Given the description of an element on the screen output the (x, y) to click on. 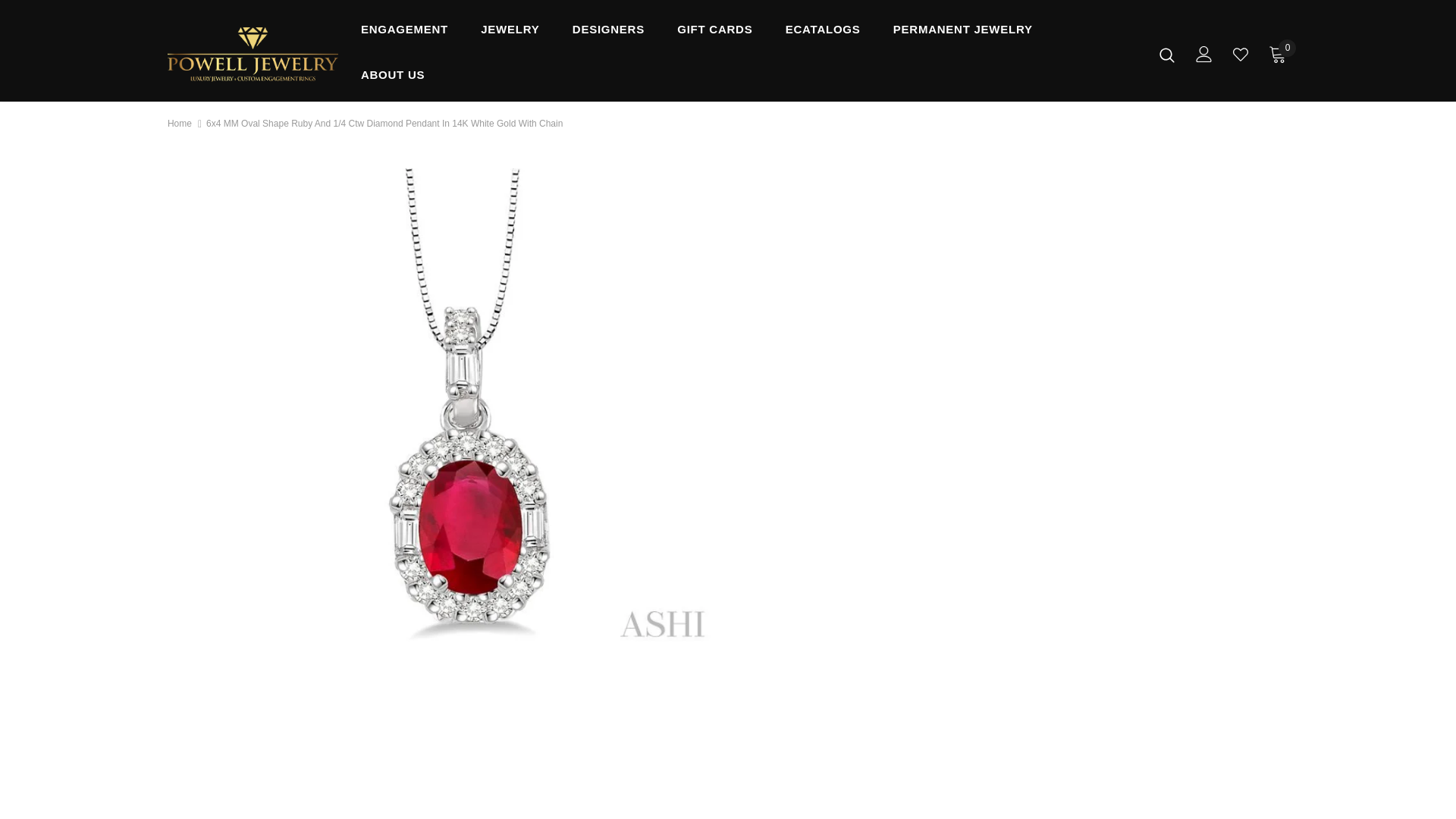
JEWELRY (509, 33)
ABOUT US (393, 78)
ENGAGEMENT (404, 33)
ECATALOGS (823, 33)
PERMANENT JEWELRY (962, 33)
GIFT CARDS (714, 33)
DESIGNERS (608, 33)
